Given the description of an element on the screen output the (x, y) to click on. 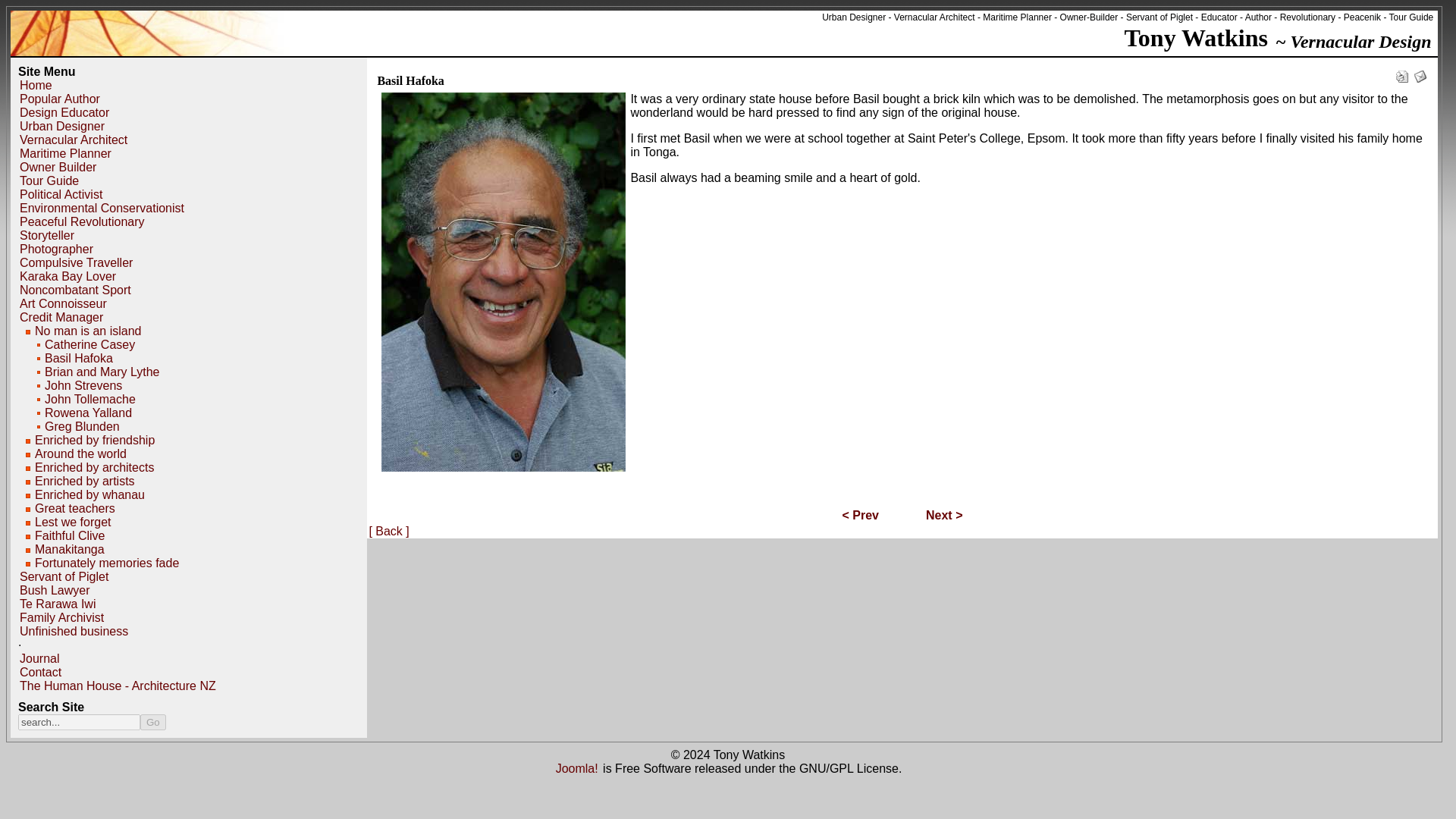
Art Connoisseur (62, 303)
Political Activist (60, 194)
Karaka Bay Lover (67, 276)
John Strevens (83, 385)
Design Educator (63, 112)
Catherine Casey (89, 344)
Great teachers (74, 508)
Enriched by friendship (94, 439)
Manakitanga (69, 549)
Noncombatant Sport (74, 289)
Photographer (55, 248)
Vernacular Architect (73, 139)
Environmental Conservationist (101, 207)
search... (78, 722)
Enriched by artists (84, 480)
